Given the description of an element on the screen output the (x, y) to click on. 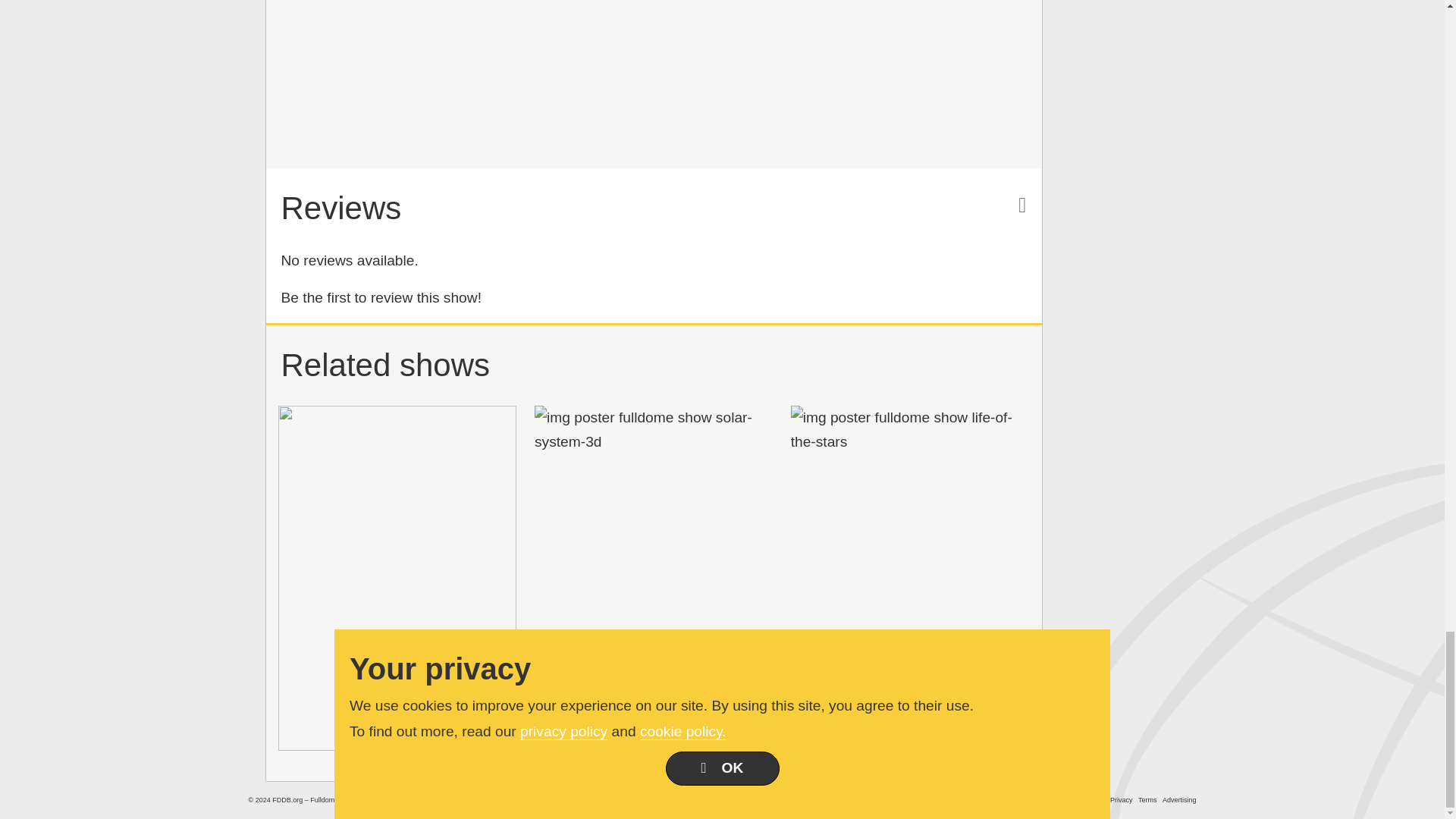
Solar System 3D (653, 430)
Life of the Stars (909, 430)
